Given the description of an element on the screen output the (x, y) to click on. 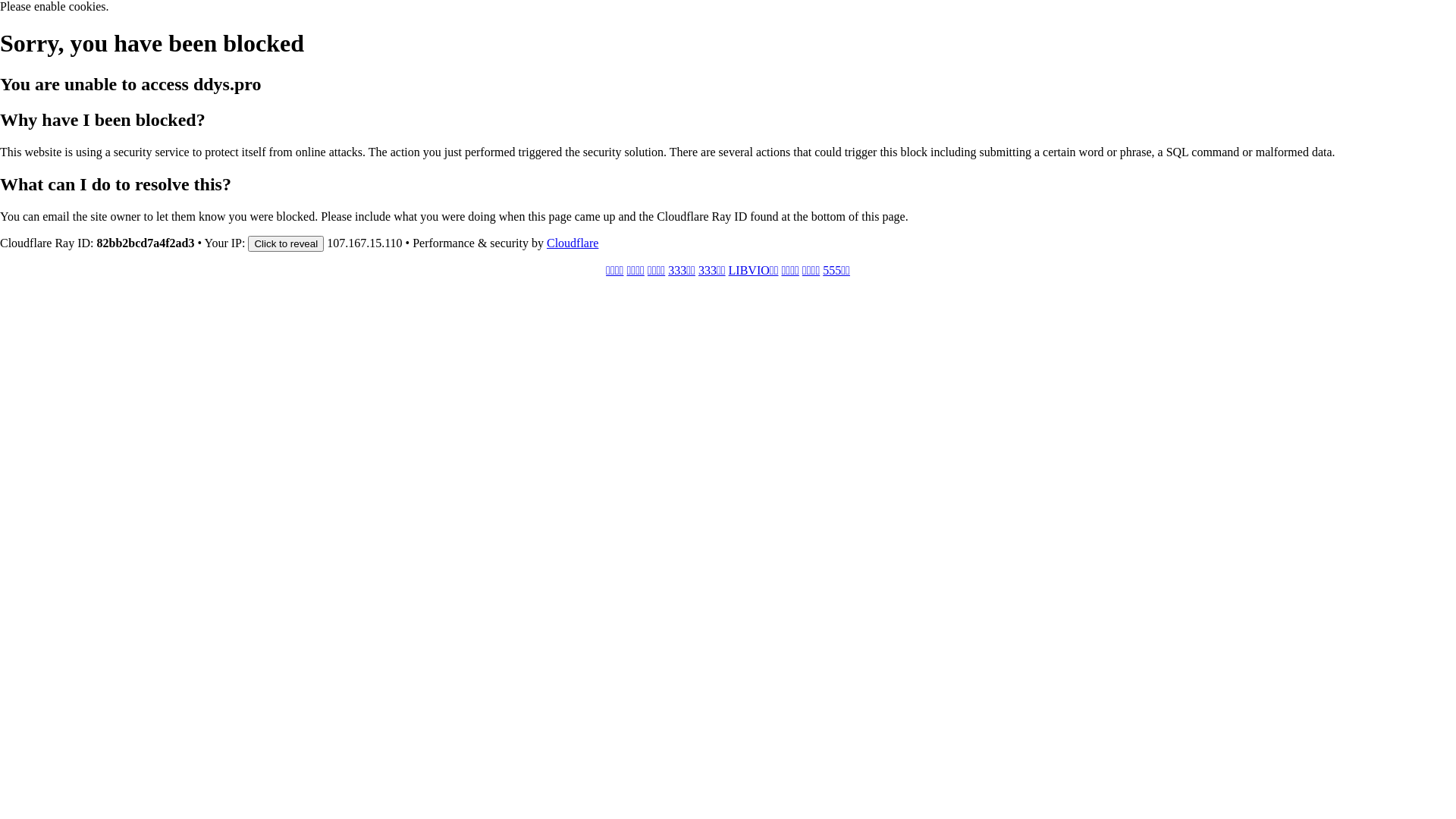
Cloudflare Element type: text (572, 242)
Click to reveal Element type: text (285, 243)
